Given the description of an element on the screen output the (x, y) to click on. 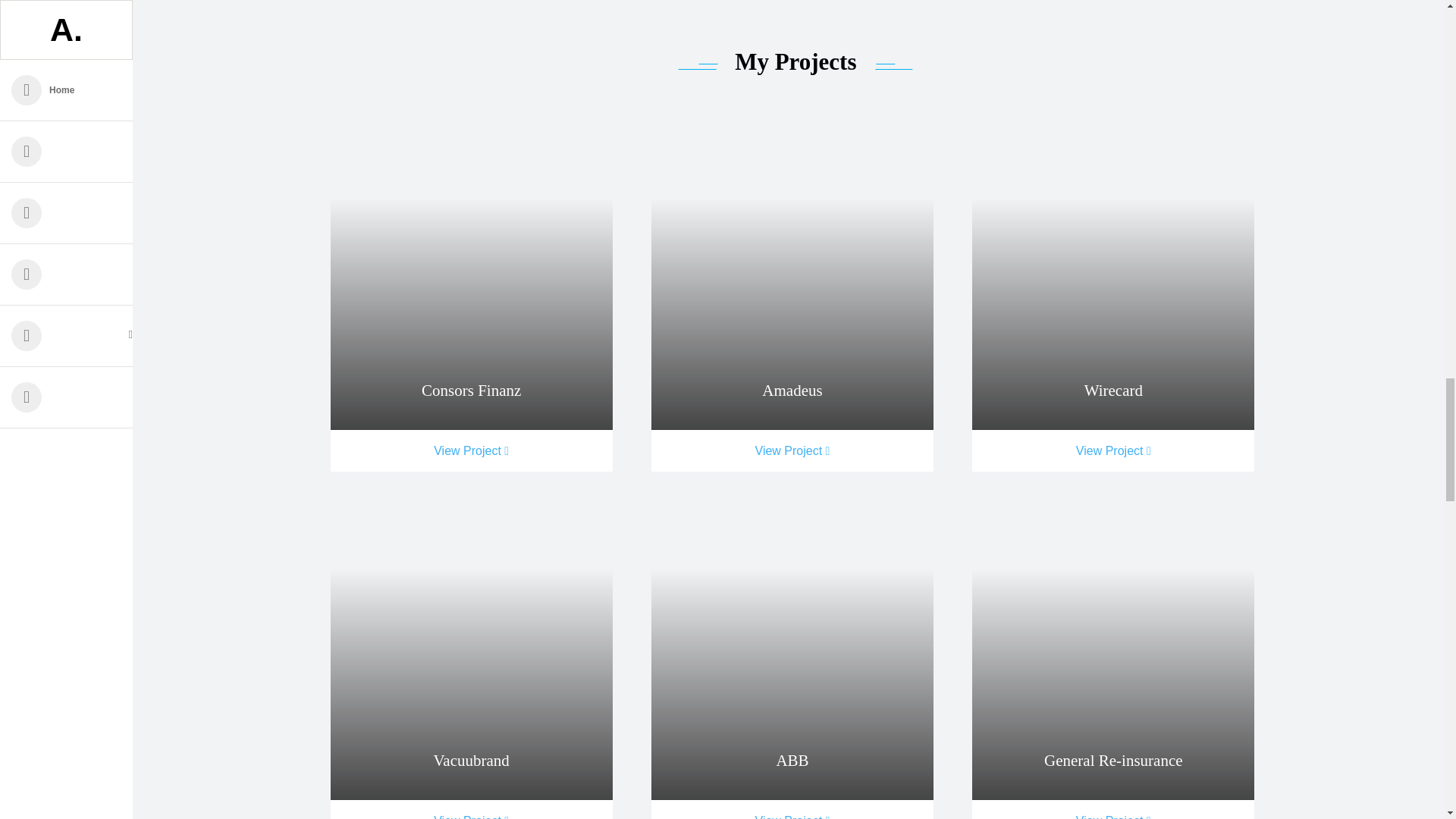
View Project (1112, 809)
ABB (792, 760)
Vacuubrand (471, 655)
View Project (471, 809)
Amadeus (791, 390)
View Project (471, 450)
Amadeus (791, 284)
General Re-insurance (1112, 760)
Wirecard (1112, 284)
View Project (791, 809)
